Given the description of an element on the screen output the (x, y) to click on. 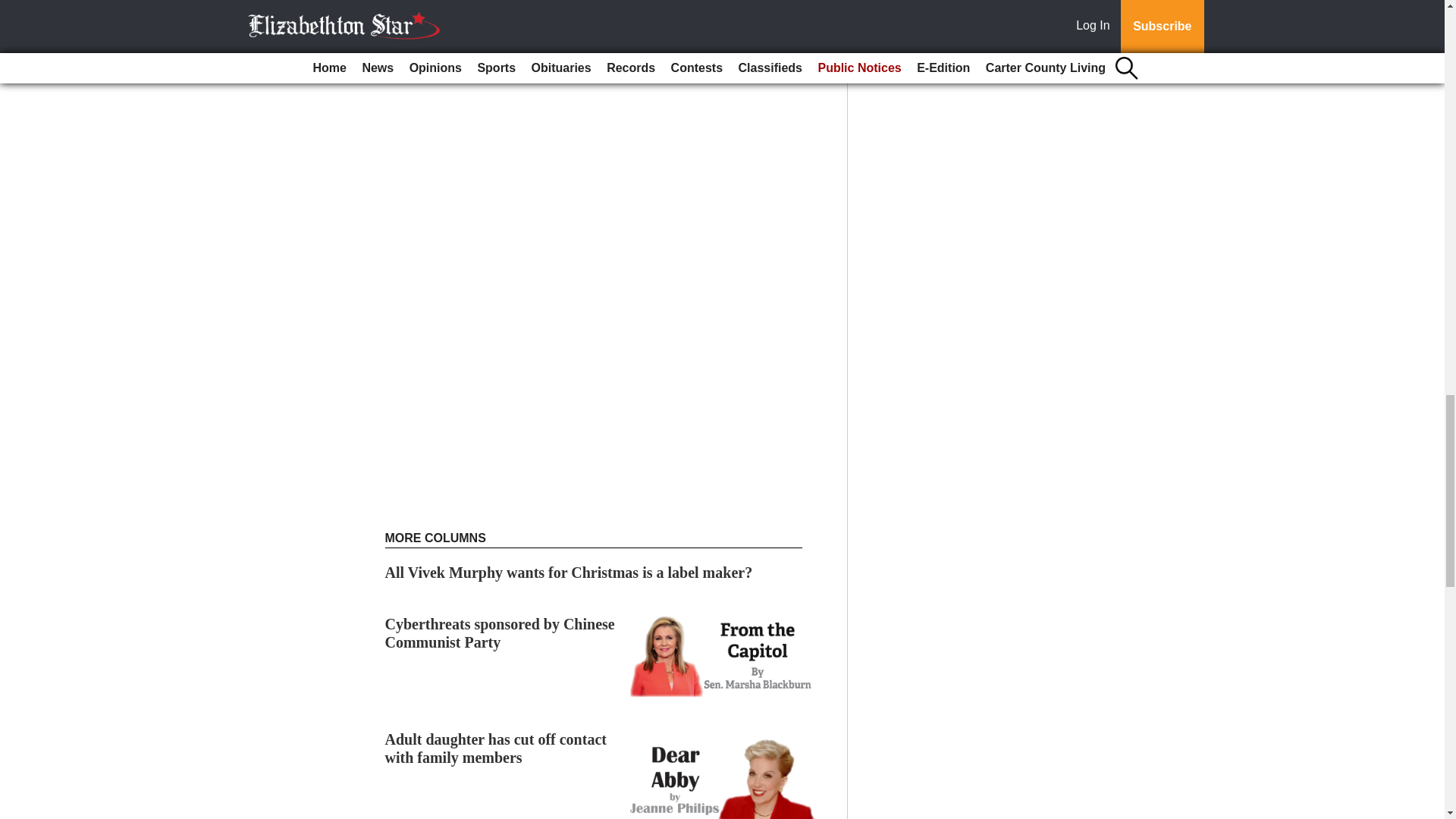
Adult daughter has cut off contact with family members (496, 748)
Subscribe (434, 60)
All Vivek Murphy wants for Christmas is a label maker? (568, 572)
Adult daughter has cut off contact with family members (496, 748)
Cyberthreats sponsored by Chinese Communist Party (499, 632)
Cyberthreats sponsored by Chinese Communist Party (499, 632)
All Vivek Murphy wants for Christmas is a label maker? (568, 572)
Subscribe (434, 60)
